Given the description of an element on the screen output the (x, y) to click on. 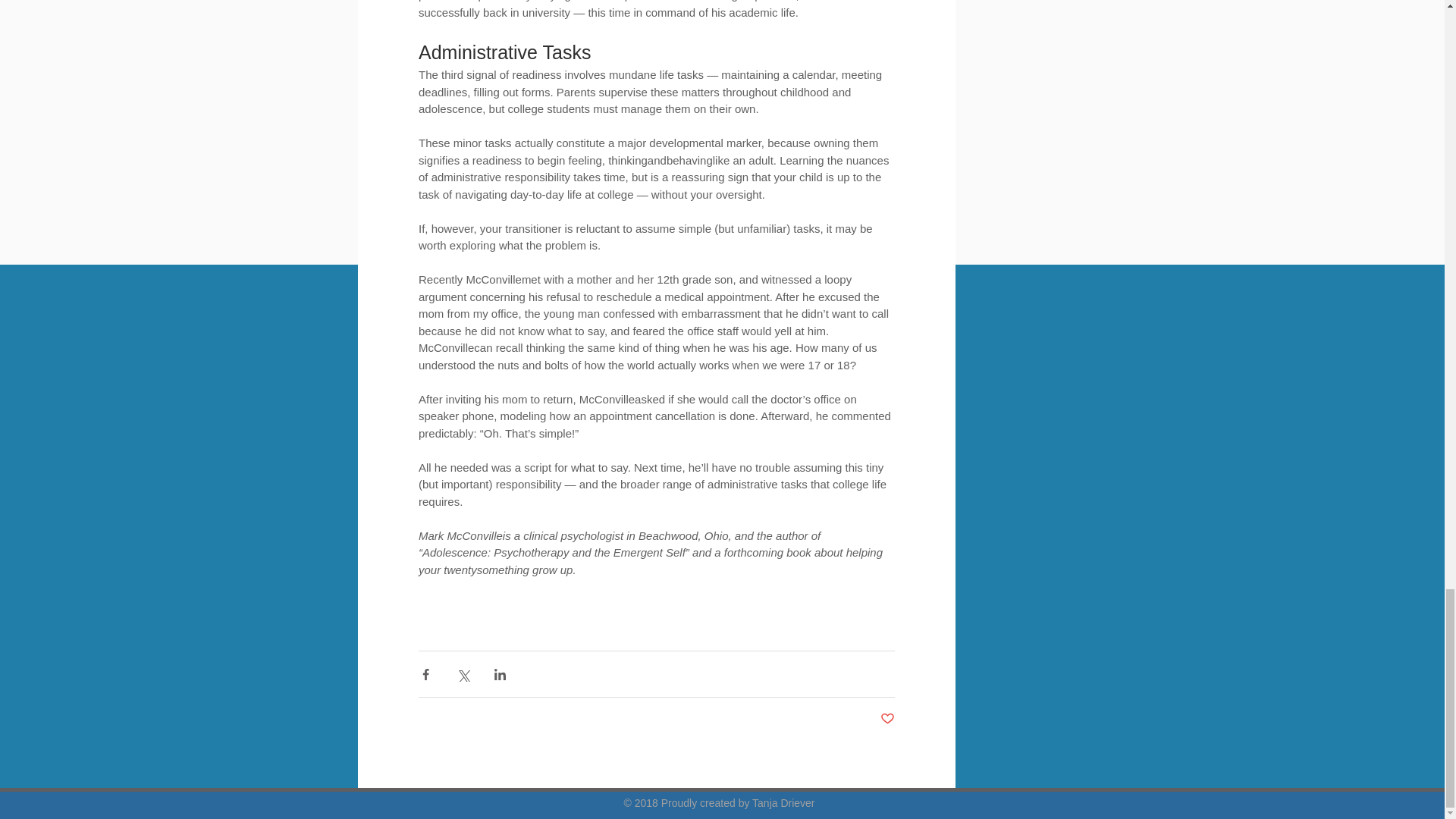
Post not marked as liked (886, 719)
